Given the description of an element on the screen output the (x, y) to click on. 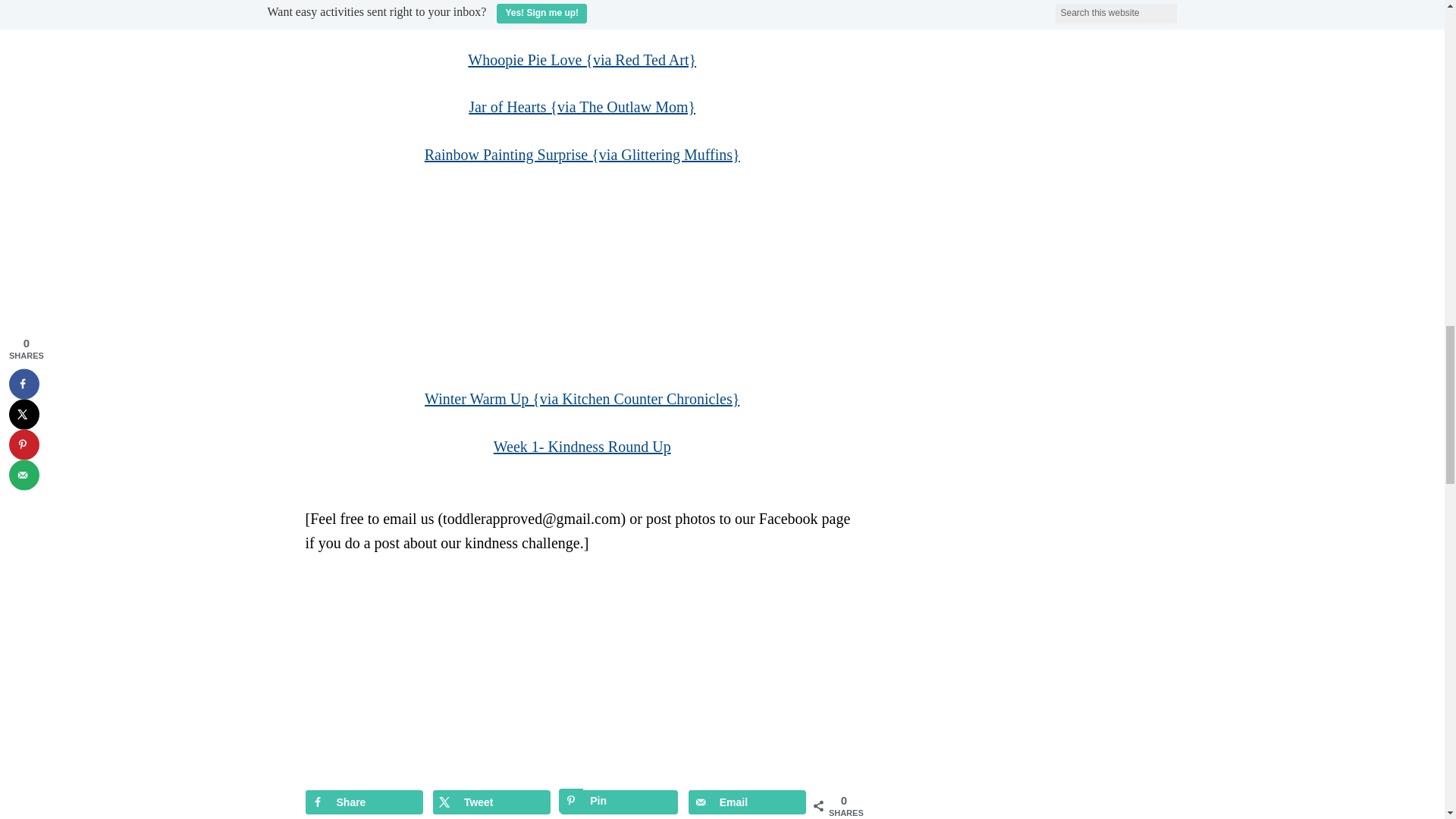
Save to Pinterest (619, 802)
Share on X (491, 802)
Send over email (747, 802)
Share on Facebook (363, 802)
